Given the description of an element on the screen output the (x, y) to click on. 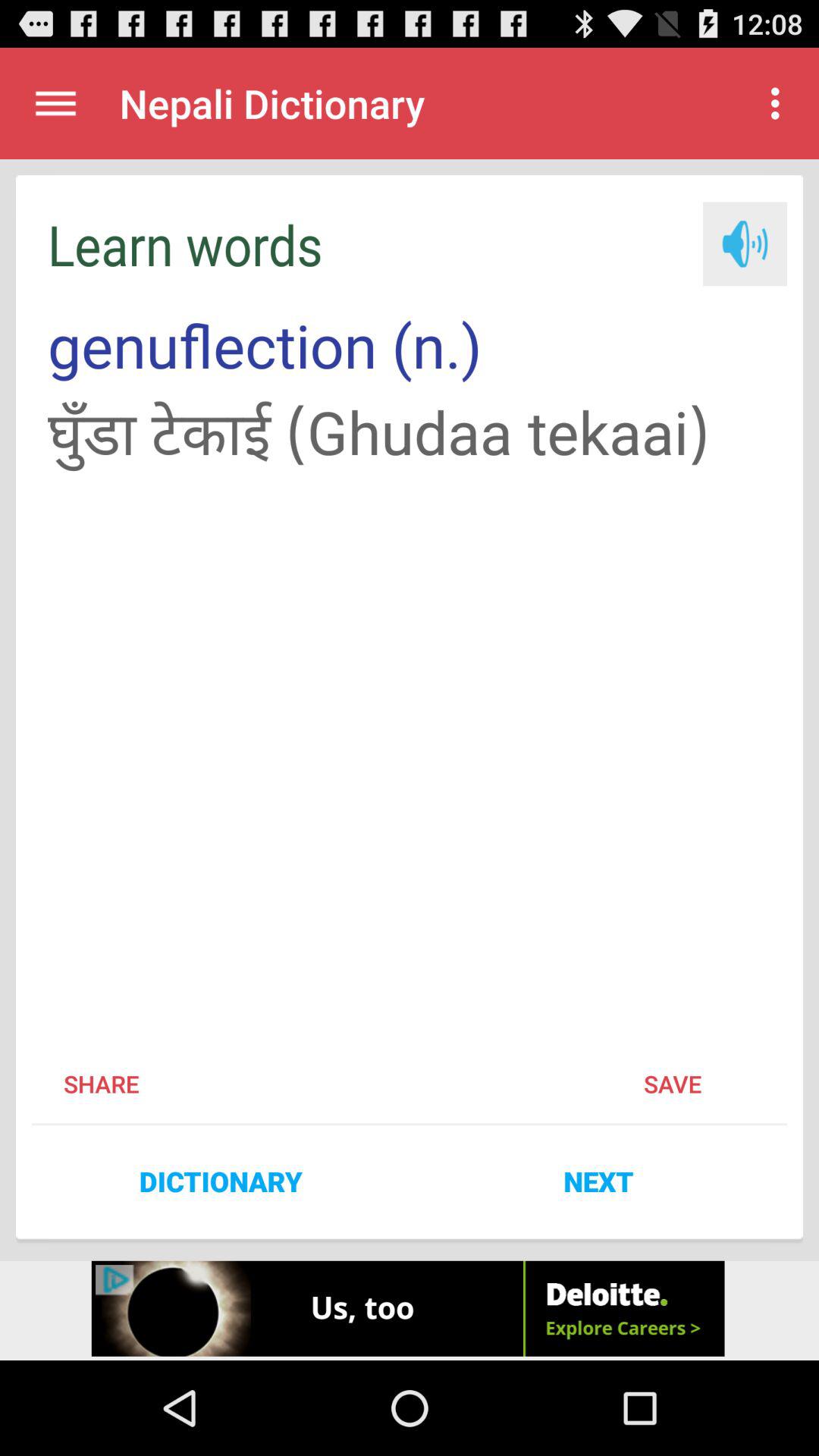
advertisement (409, 1310)
